Given the description of an element on the screen output the (x, y) to click on. 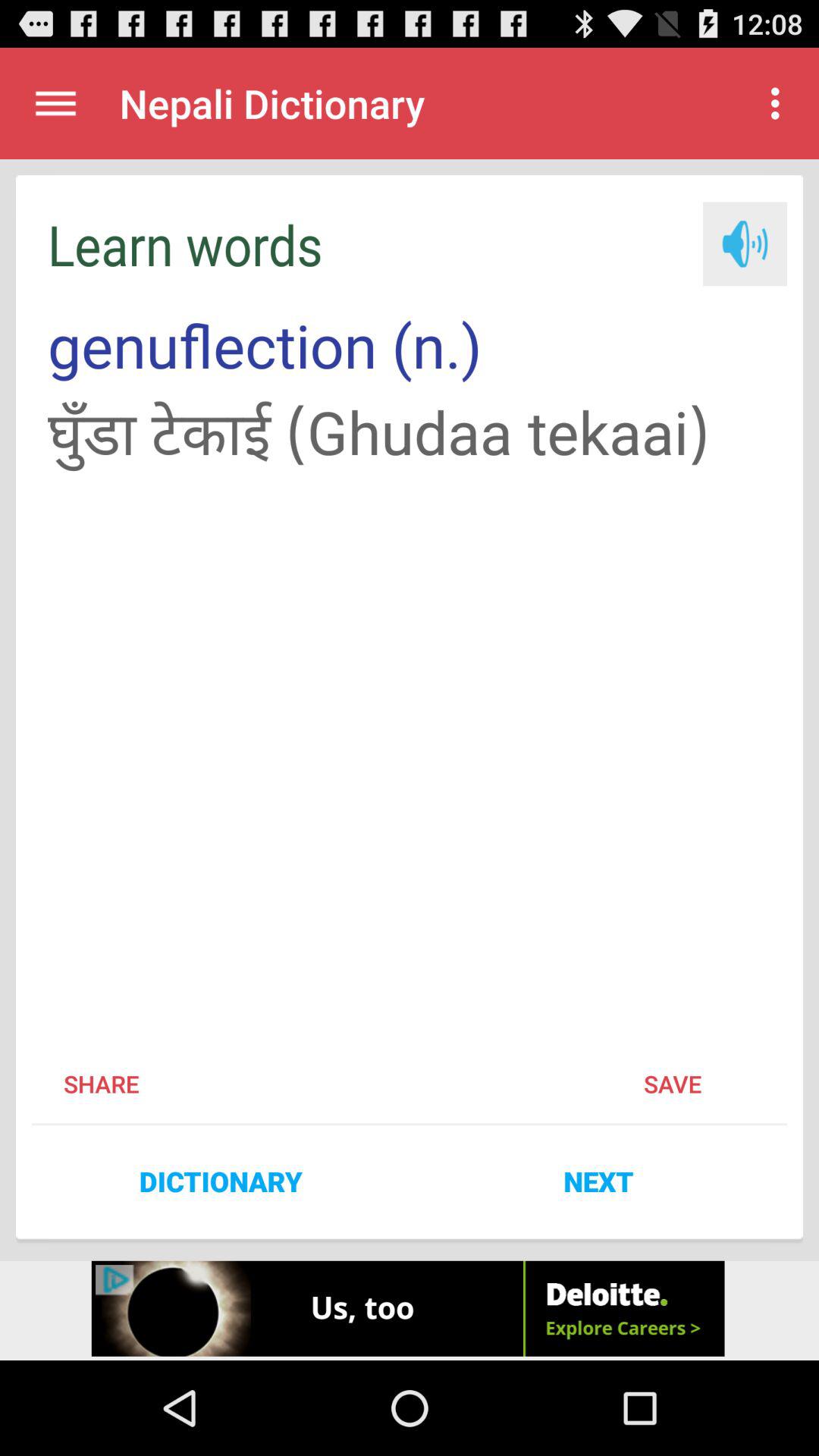
advertisement (409, 1310)
